Given the description of an element on the screen output the (x, y) to click on. 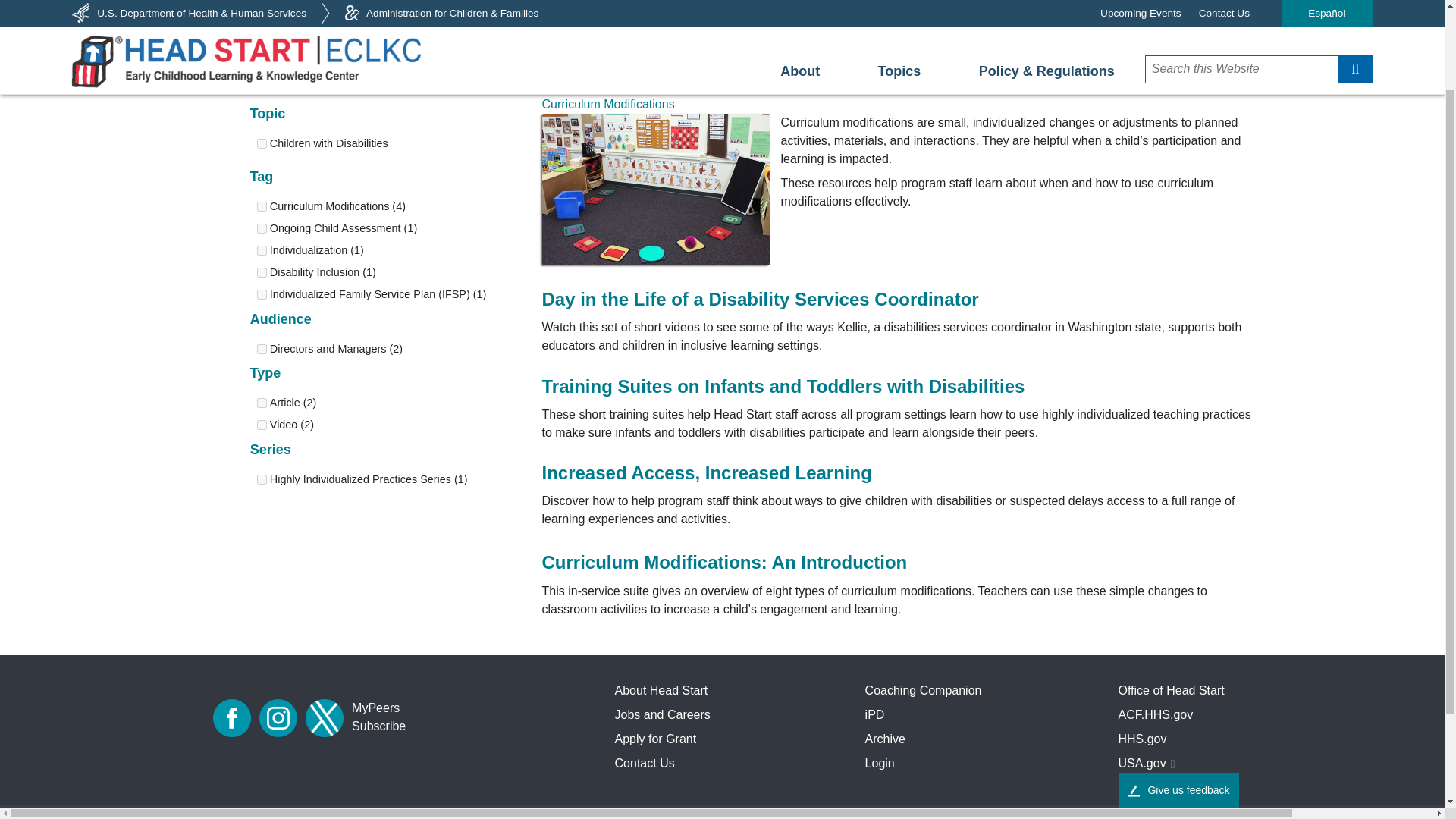
on (261, 402)
Printer Friendly and PDF (1179, 49)
on (261, 272)
MyPeers (375, 708)
Performance Standards (721, 13)
on (261, 294)
on (261, 206)
on (261, 250)
Go to Twitter (324, 718)
on (261, 143)
